Given the description of an element on the screen output the (x, y) to click on. 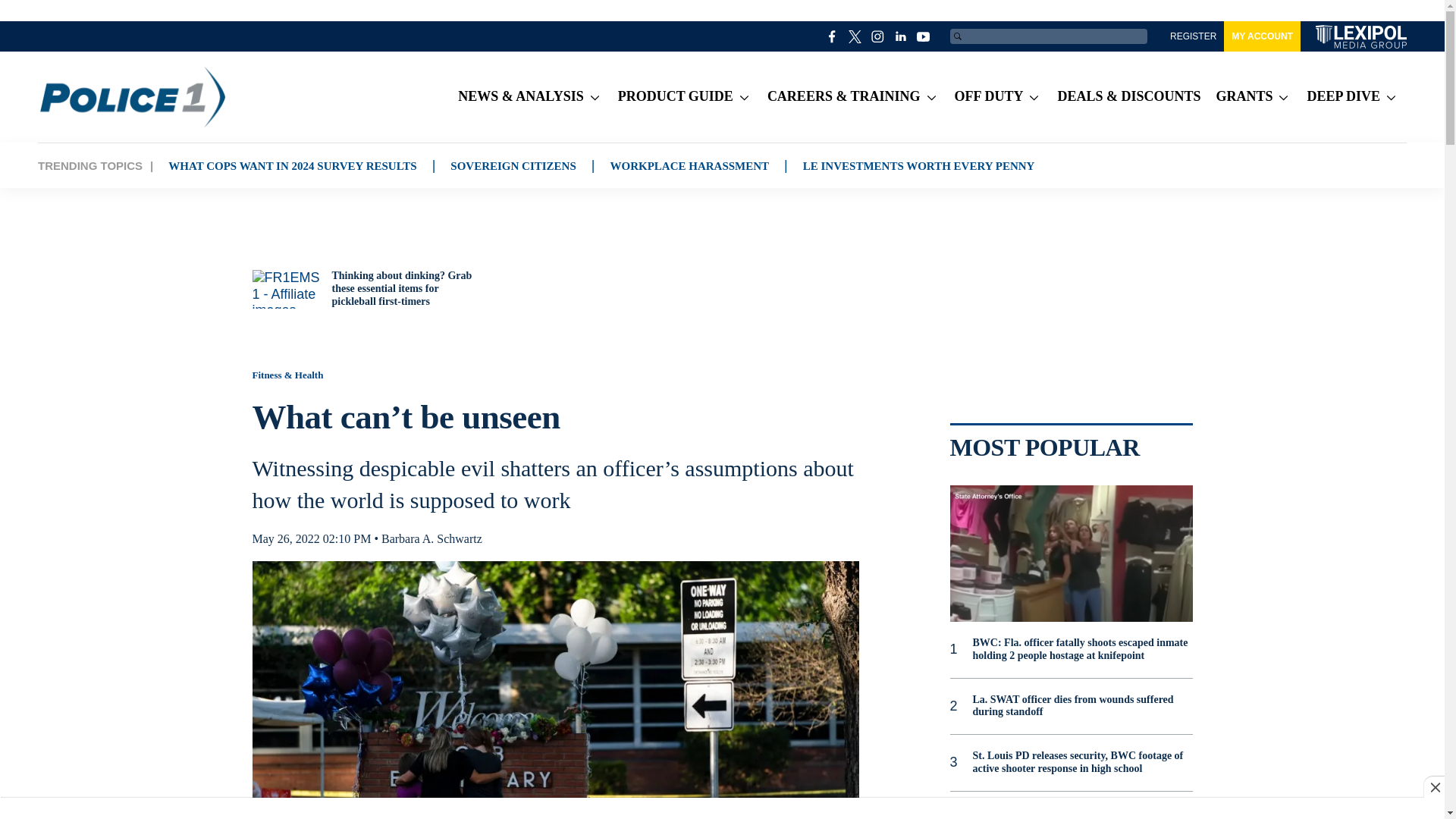
instagram (877, 36)
twitter (855, 36)
linkedin (900, 36)
MY ACCOUNT (1262, 36)
youtube (923, 36)
facebook (832, 36)
REGISTER (1192, 36)
